Given the description of an element on the screen output the (x, y) to click on. 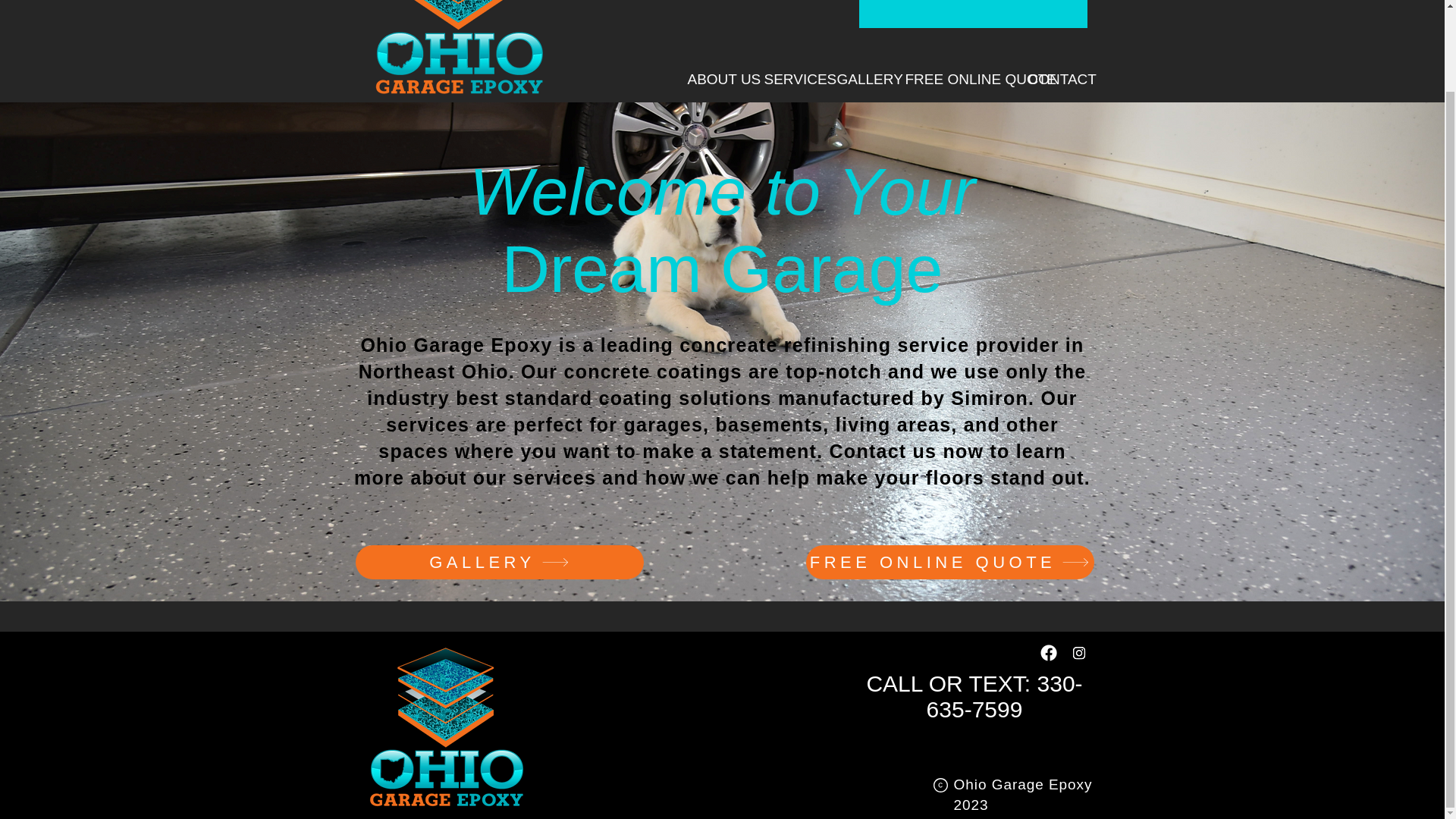
CONTACT (1051, 78)
SERVICES (788, 78)
GALLERY (859, 78)
FREE ONLINE QUOTE (949, 562)
FREE ONLINE QUOTE (954, 78)
GALLERY (499, 562)
ABOUT US (714, 78)
